Given the description of an element on the screen output the (x, y) to click on. 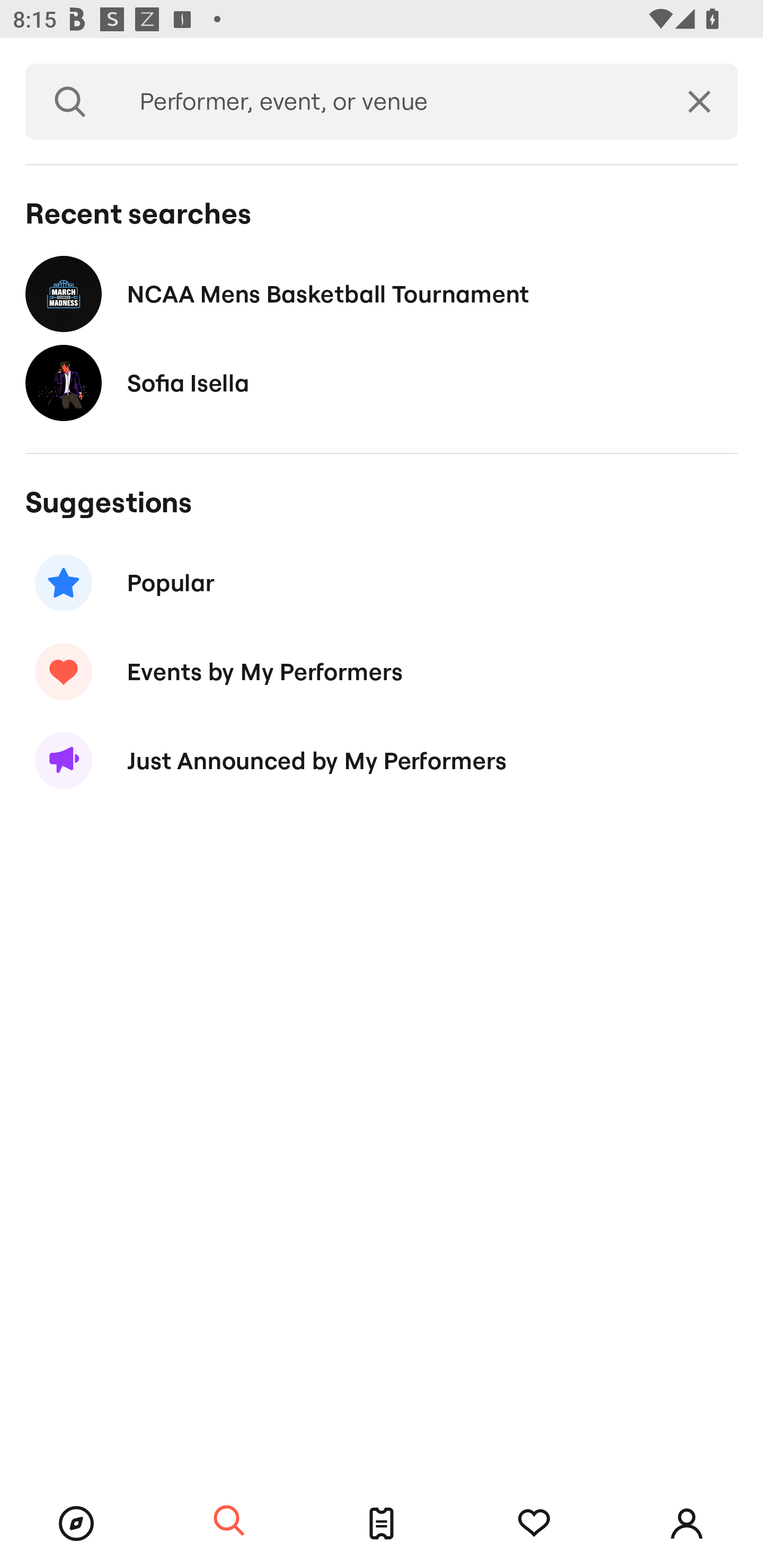
Search (69, 101)
Performer, event, or venue (387, 101)
Clear (699, 101)
NCAA Mens Basketball Tournament (381, 293)
Sofia Isella (381, 383)
Popular (381, 582)
Events by My Performers (381, 671)
Just Announced by My Performers (381, 760)
Browse (76, 1523)
Search (228, 1521)
Tickets (381, 1523)
Tracking (533, 1523)
Account (686, 1523)
